Given the description of an element on the screen output the (x, y) to click on. 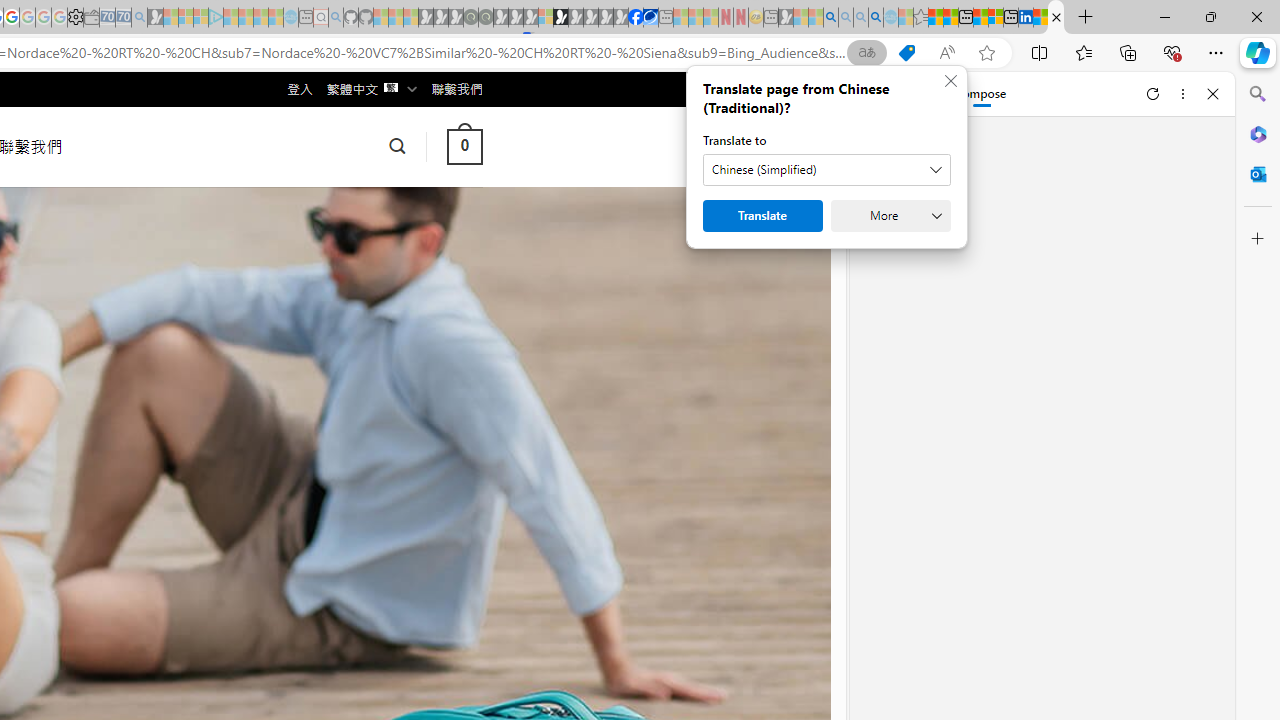
AQI & Health | AirNow.gov (650, 17)
